Given the description of an element on the screen output the (x, y) to click on. 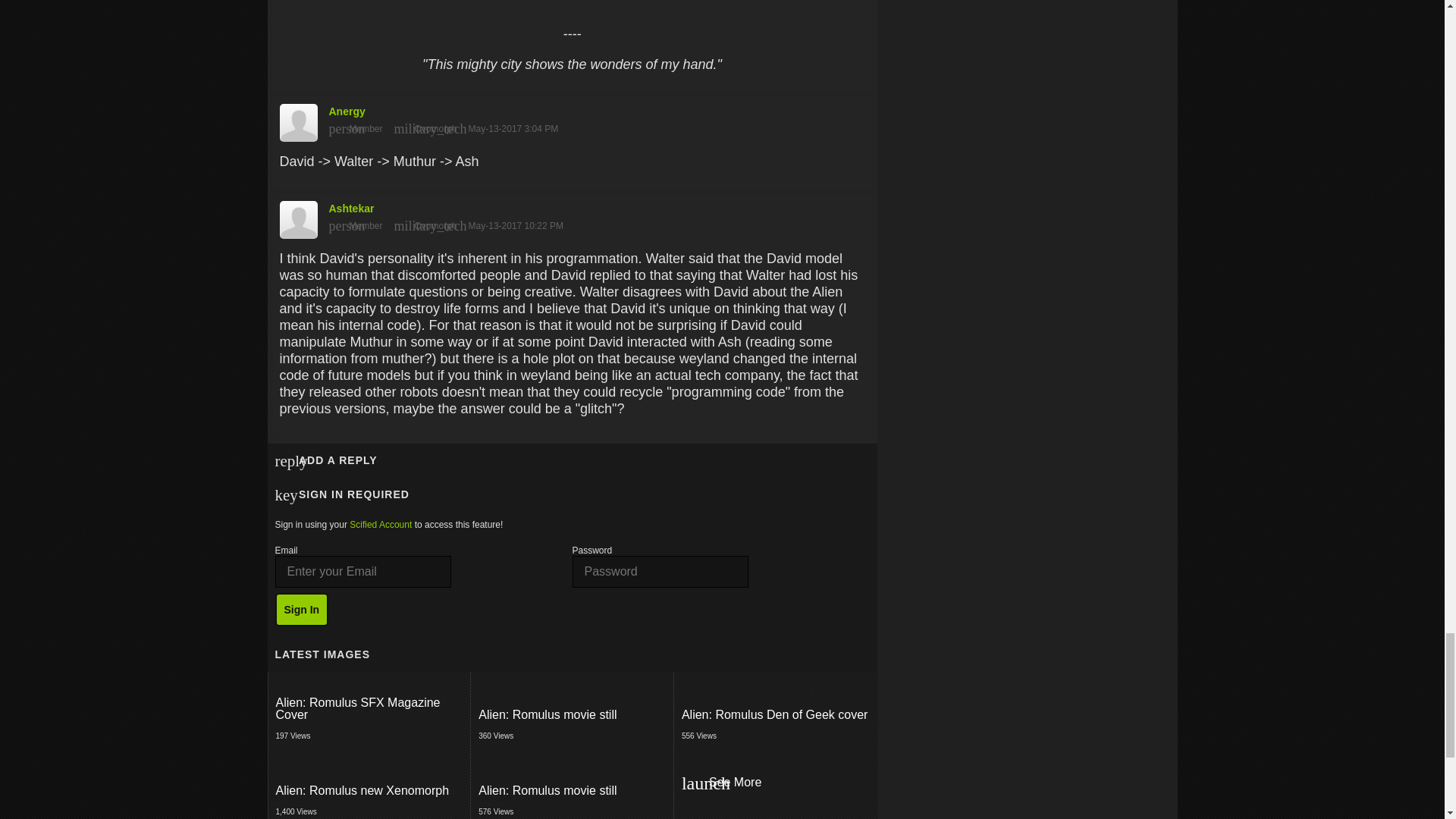
Alien: Romulus Den of Geek cover (775, 714)
Alien: Romulus new Xenomorph (774, 709)
Alien: Romulus SFX Magazine Cover (369, 790)
What is a Scified Account (368, 783)
Alien: Romulus movie still (571, 783)
Ashtekar (369, 708)
Anergy (380, 524)
Alien: Romulus movie still (572, 714)
See More (571, 215)
Scified Account (571, 119)
